Given the description of an element on the screen output the (x, y) to click on. 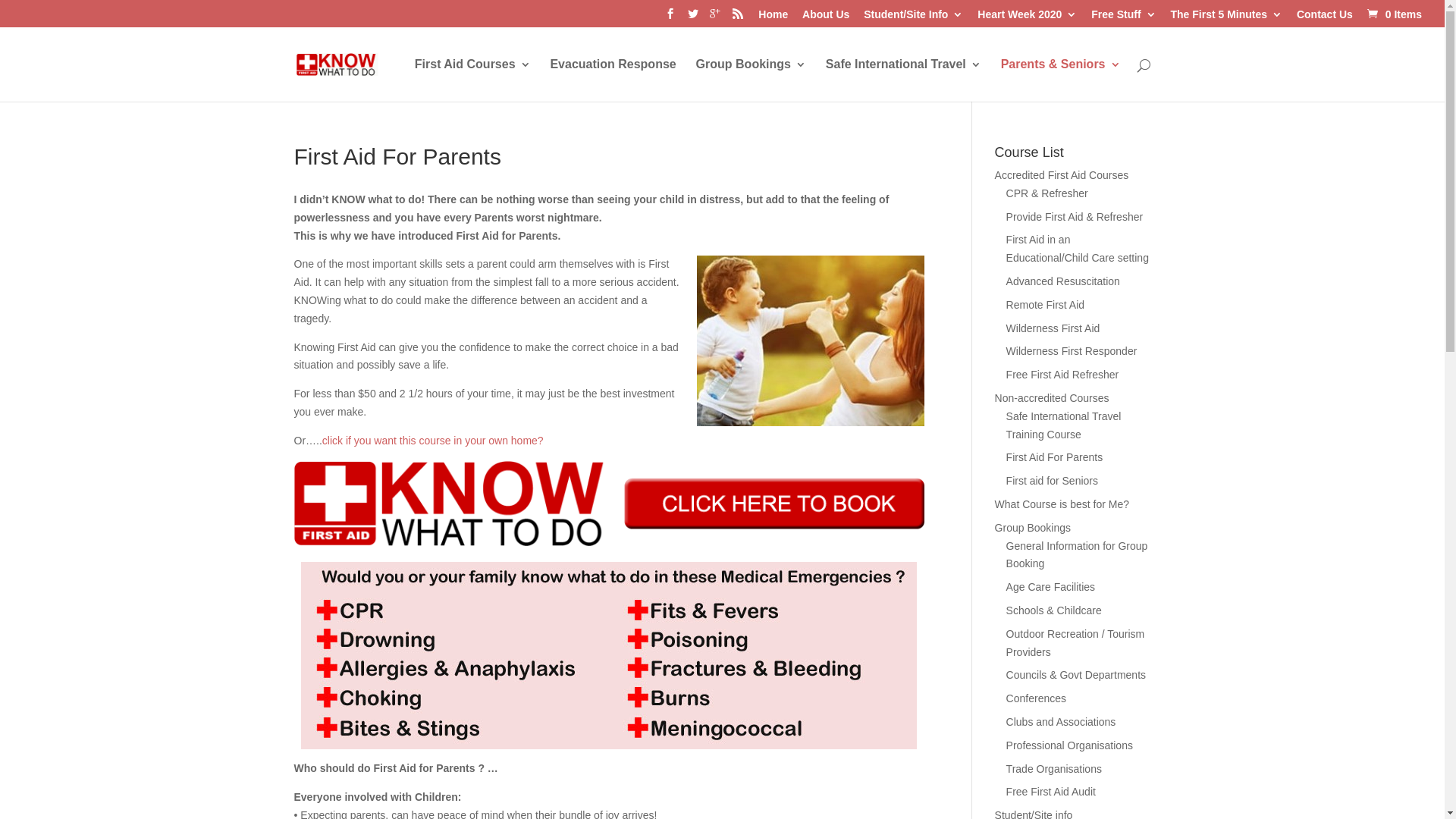
Safe International Travel Training Course Element type: text (1063, 425)
Evacuation Response Element type: text (612, 80)
Heart Week 2020 Element type: text (1026, 18)
click if you want this course in your own home? Element type: text (432, 440)
Safe International Travel Element type: text (903, 80)
Group Bookings Element type: text (1032, 527)
Contact Us Element type: text (1324, 18)
Student/Site Info Element type: text (913, 18)
Councils & Govt Departments Element type: text (1075, 674)
Parents & Seniors Element type: text (1060, 80)
Outdoor Recreation / Tourism Providers Element type: text (1075, 642)
First Aid For Parents Element type: text (1054, 457)
Remote First Aid Element type: text (1045, 304)
Accredited First Aid Courses Element type: text (1061, 175)
CPR & Refresher Element type: text (1047, 193)
Clubs and Associations Element type: text (1061, 721)
Schools & Childcare Element type: text (1053, 610)
Wilderness First Aid Element type: text (1053, 328)
Age Care Facilities Element type: text (1050, 586)
Trade Organisations Element type: text (1053, 768)
Wilderness First Responder Element type: text (1071, 351)
About Us Element type: text (825, 18)
Free First Aid Audit Element type: text (1050, 791)
First Aid in an Educational/Child Care setting Element type: text (1077, 248)
Professional Organisations Element type: text (1069, 745)
Group Bookings Element type: text (751, 80)
Home Element type: text (772, 18)
Provide First Aid & Refresher Element type: text (1074, 216)
The First 5 Minutes Element type: text (1226, 18)
Free First Aid Refresher Element type: text (1062, 374)
0 Items Element type: text (1392, 13)
First aid for Seniors Element type: text (1052, 480)
First Aid Courses Element type: text (472, 80)
General Information for Group Booking Element type: text (1077, 554)
Free Stuff Element type: text (1123, 18)
What Course is best for Me? Element type: text (1061, 504)
Non-accredited Courses Element type: text (1051, 398)
Advanced Resuscitation Element type: text (1063, 281)
Conferences Element type: text (1036, 698)
